Given the description of an element on the screen output the (x, y) to click on. 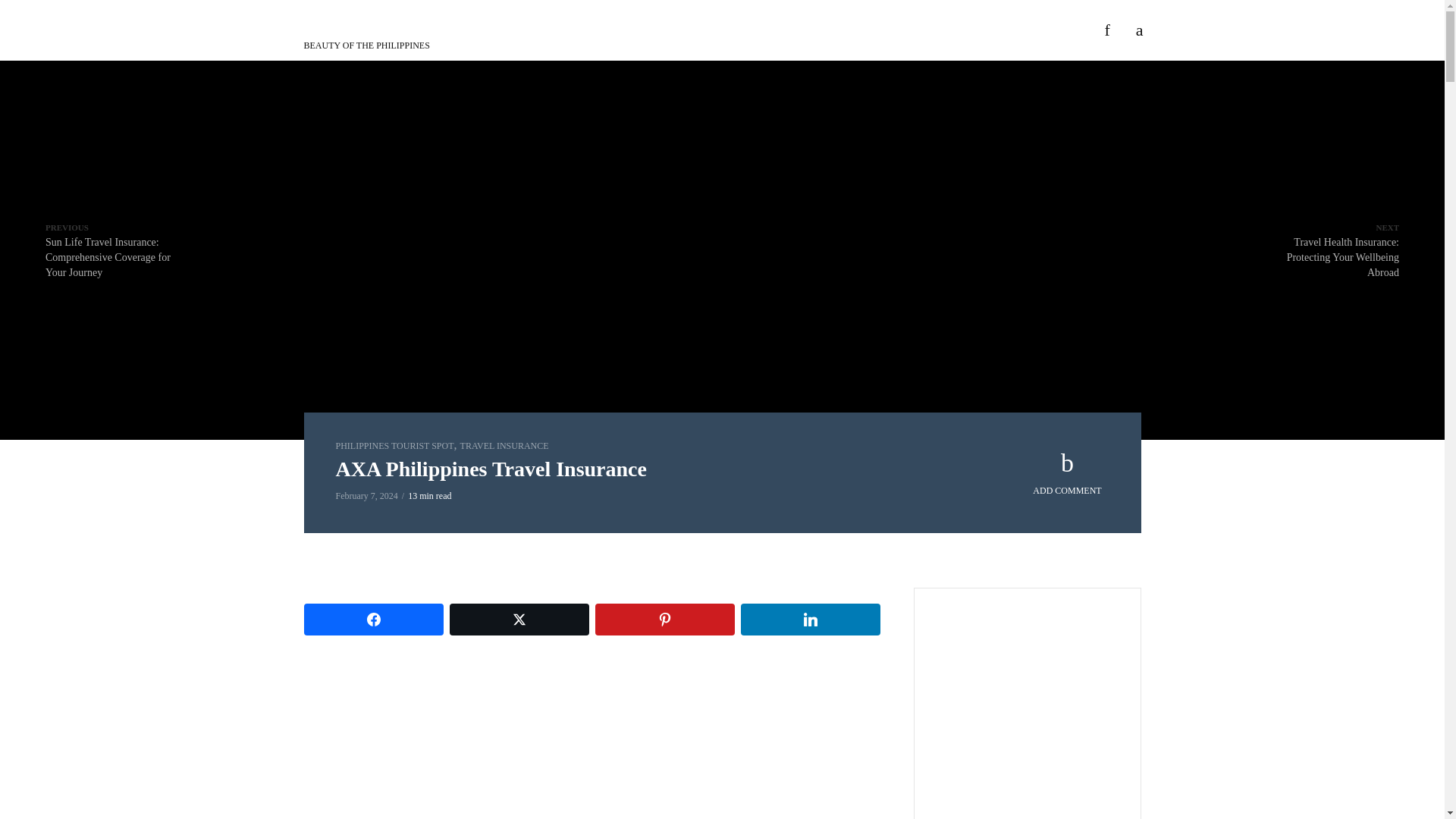
Share on LinkedIn (809, 619)
Share on Facebook (372, 619)
Share on Twitter (518, 619)
Share on Pinterest (663, 619)
